Given the description of an element on the screen output the (x, y) to click on. 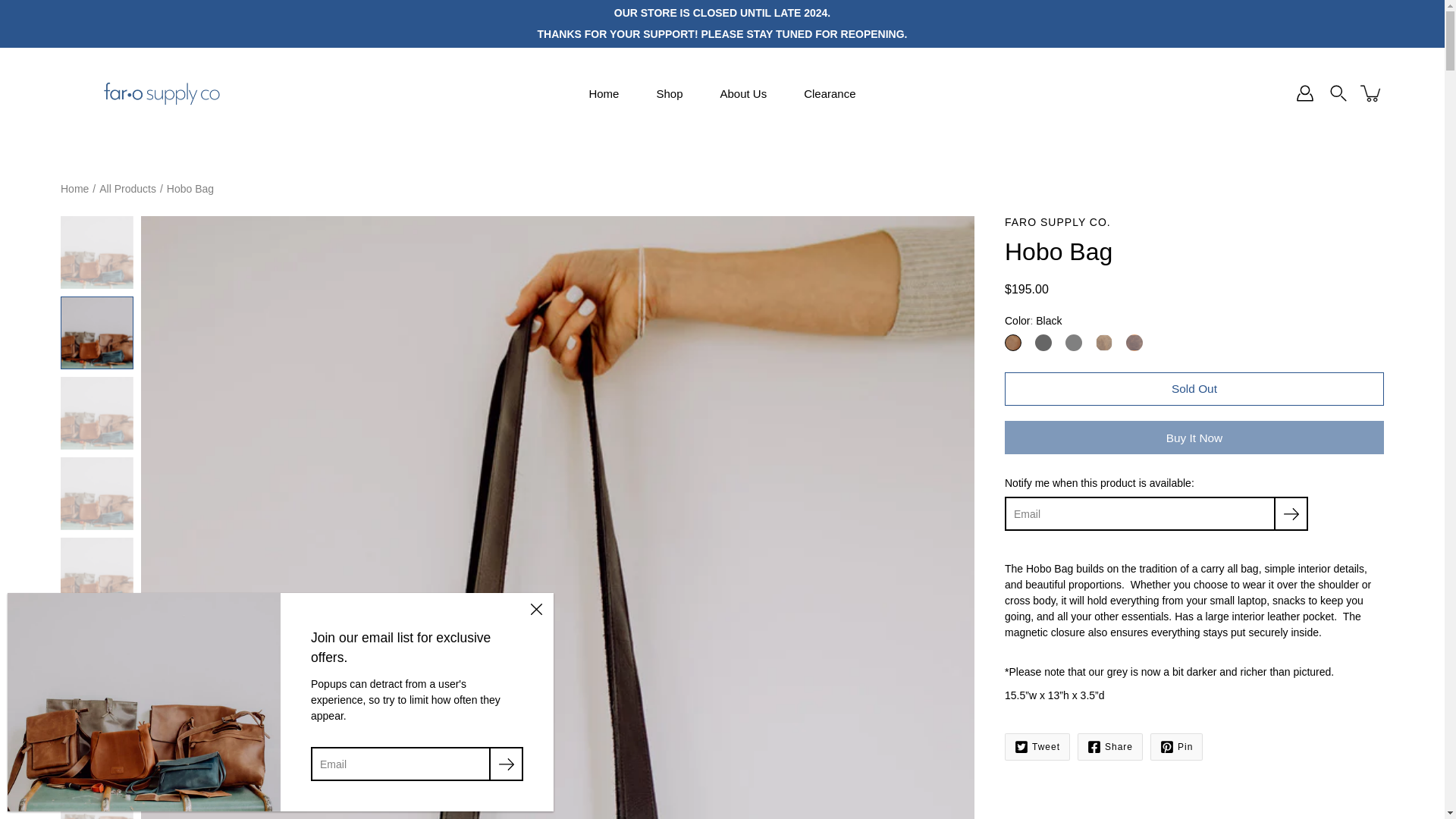
All Products (127, 188)
Twitter (1037, 746)
Home (603, 92)
Shop (669, 92)
Black (1043, 342)
Cafe (1104, 342)
Grey (1073, 342)
Home (74, 188)
Back to the Homepage (74, 188)
Pinterest (1176, 746)
Clearance (829, 92)
Tobacco (1013, 342)
Chocolate (1133, 342)
About Us (743, 92)
Facebook (1109, 746)
